Given the description of an element on the screen output the (x, y) to click on. 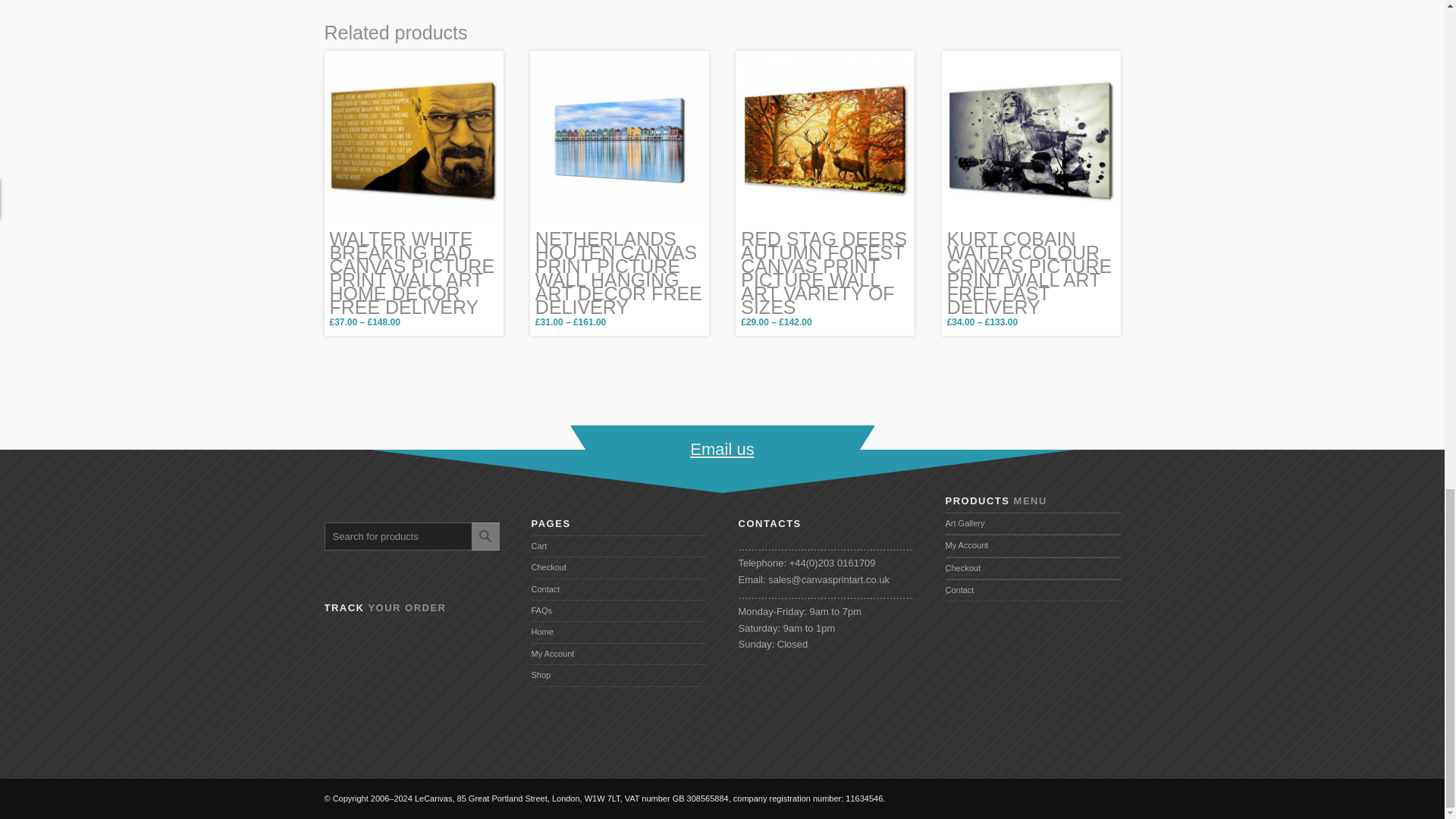
Search for products (424, 536)
